Given the description of an element on the screen output the (x, y) to click on. 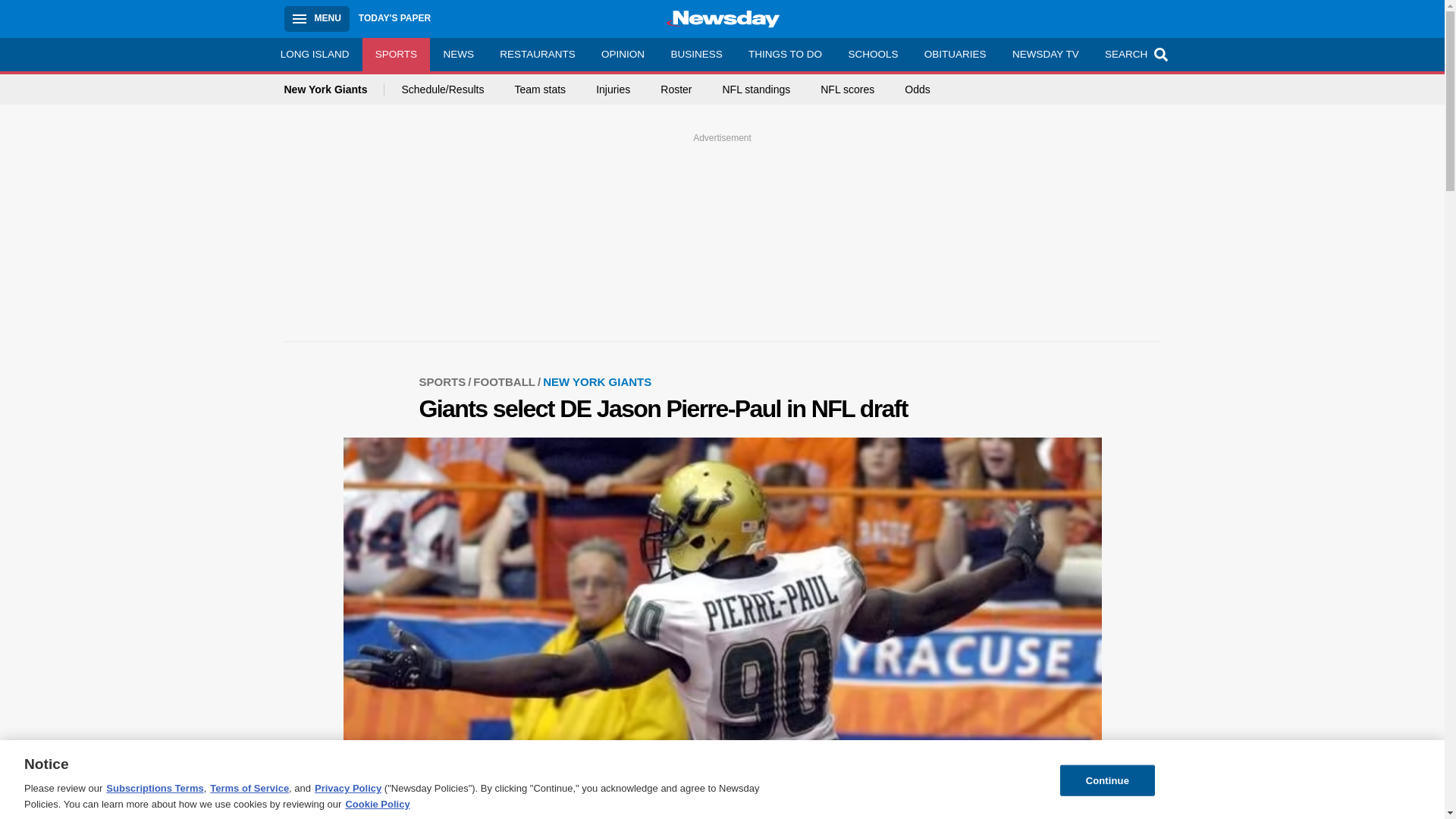
OPINION (623, 54)
MENU (316, 18)
New York Giants (333, 89)
Team stats (539, 89)
Injuries (612, 89)
LONG ISLAND (313, 54)
OBITUARIES (954, 54)
THINGS TO DO (784, 54)
BUSINESS (696, 54)
NEWS (457, 54)
